Given the description of an element on the screen output the (x, y) to click on. 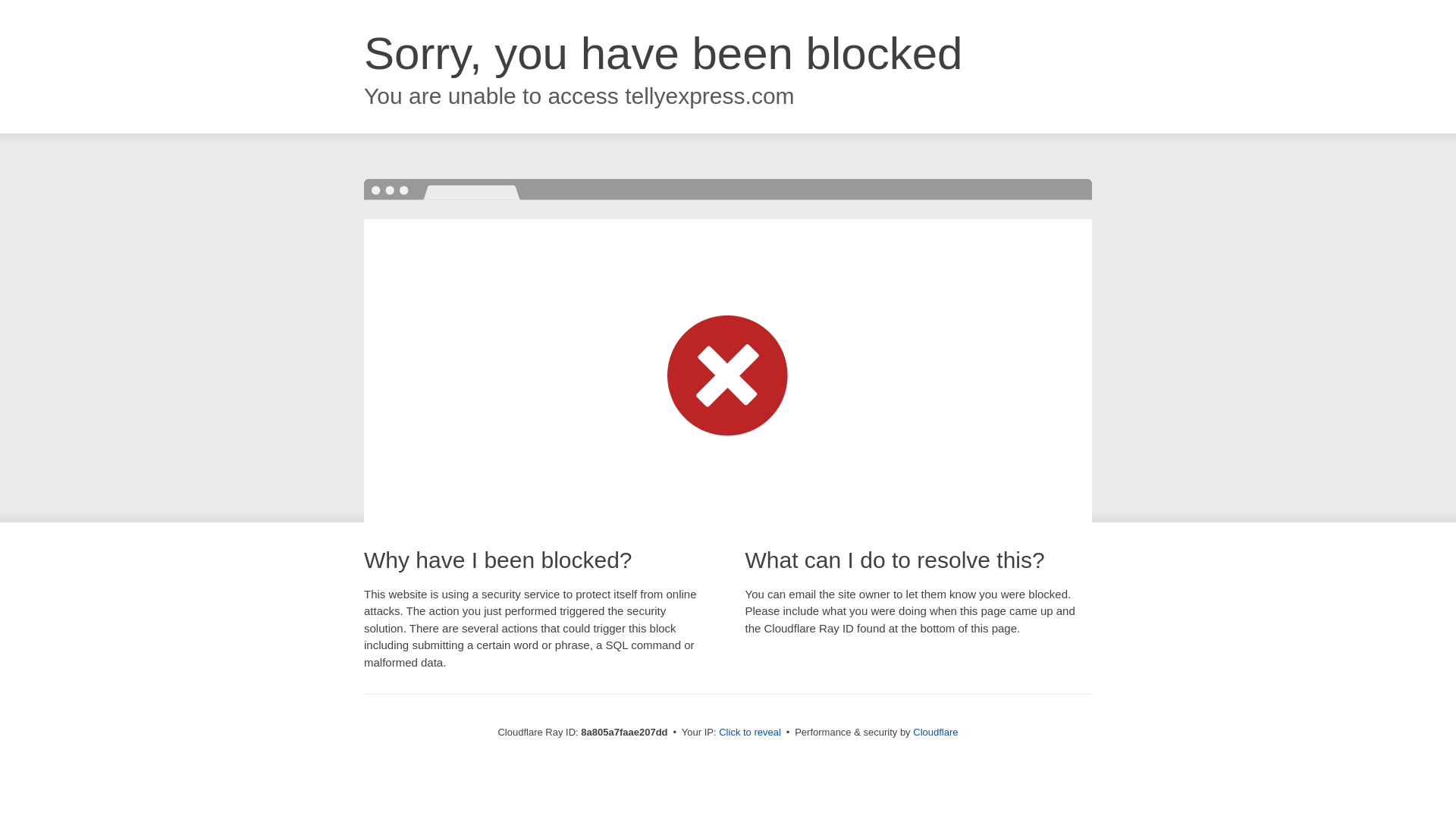
Cloudflare (935, 731)
Click to reveal (749, 732)
